Given the description of an element on the screen output the (x, y) to click on. 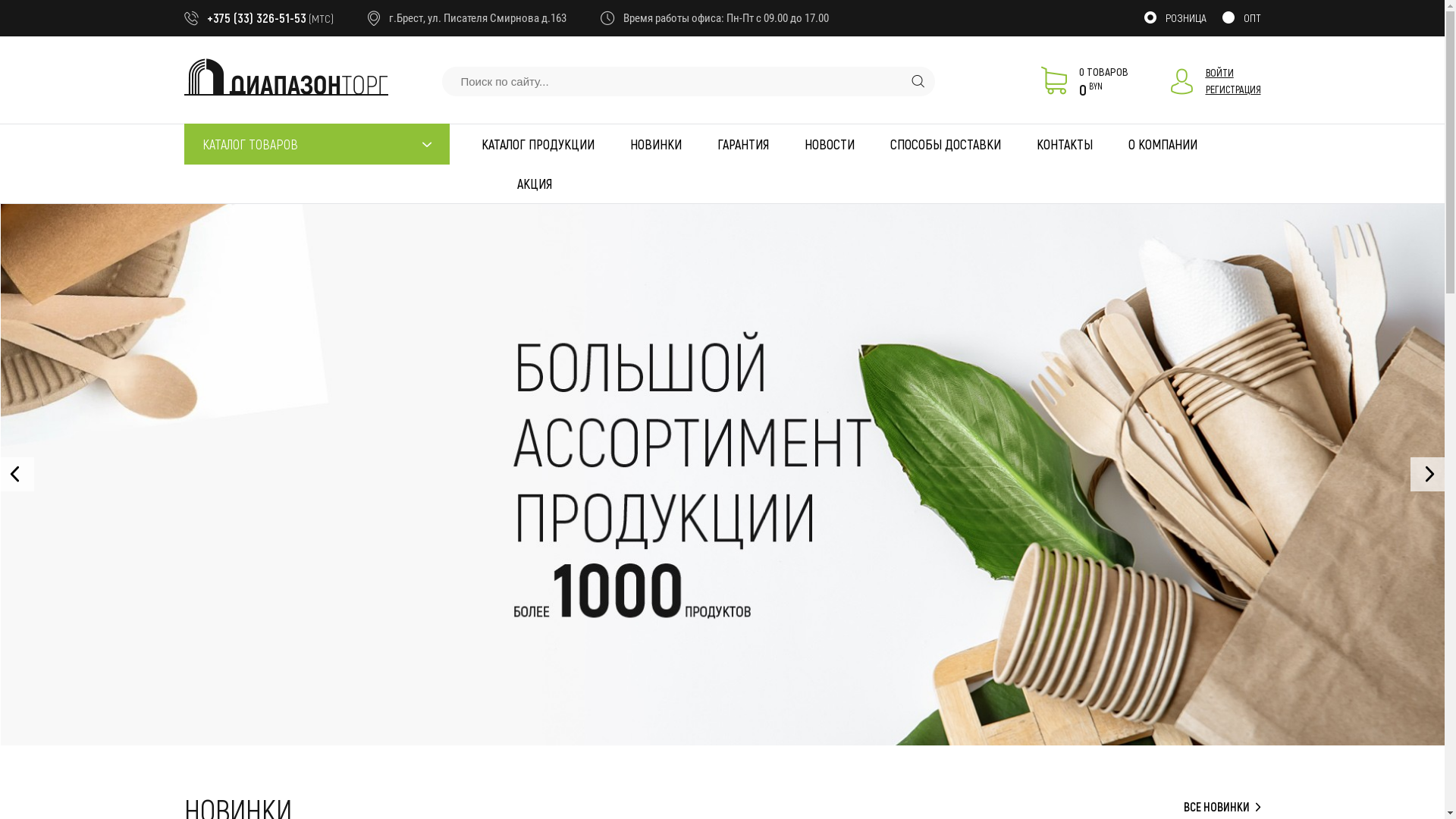
+375 (33) 326-51-53 Element type: text (255, 17)
